Given the description of an element on the screen output the (x, y) to click on. 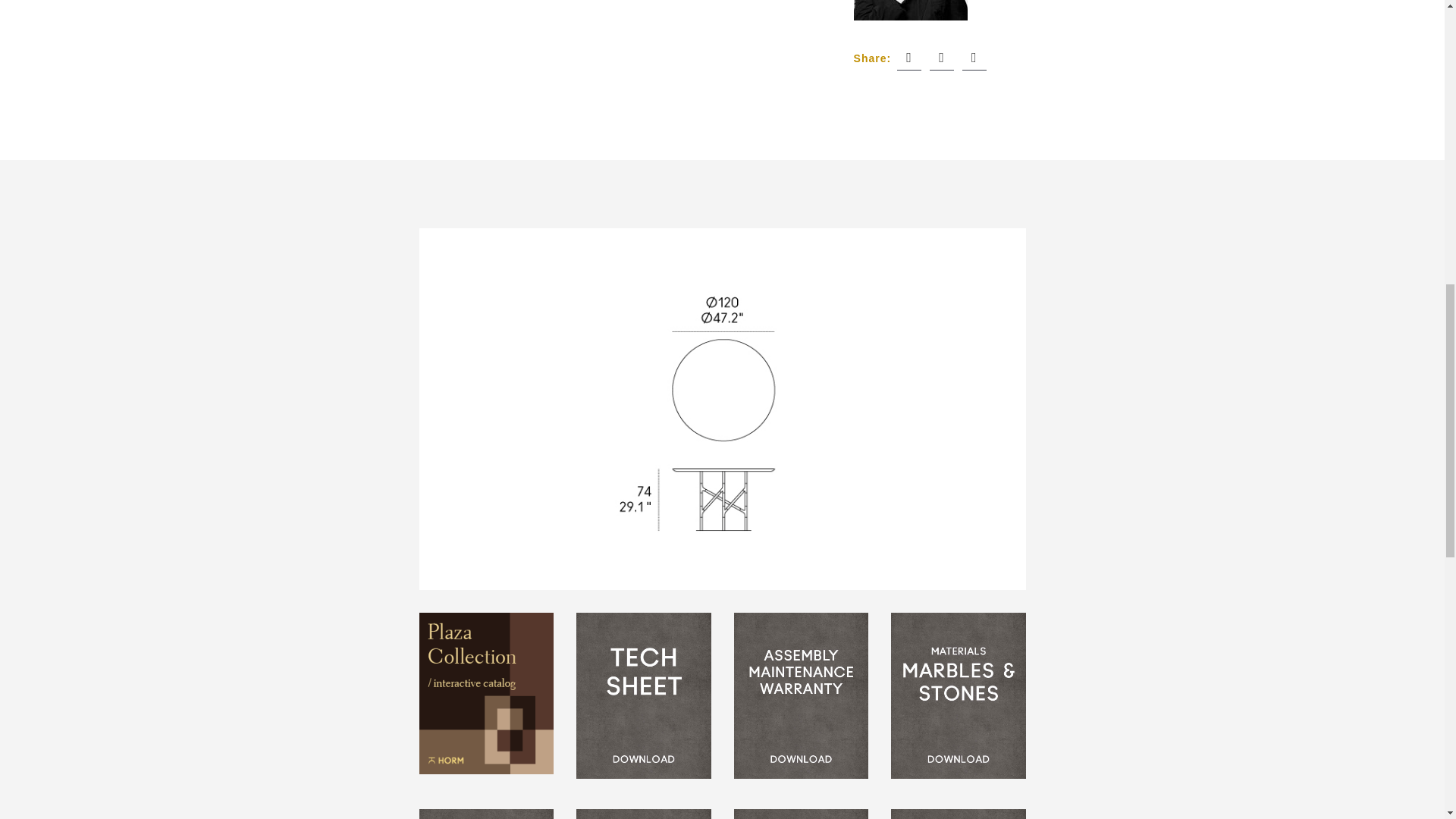
Share this post on Facebook (908, 57)
Share this post on Twitter (941, 57)
Share this post on Pinterest (974, 57)
